Given the description of an element on the screen output the (x, y) to click on. 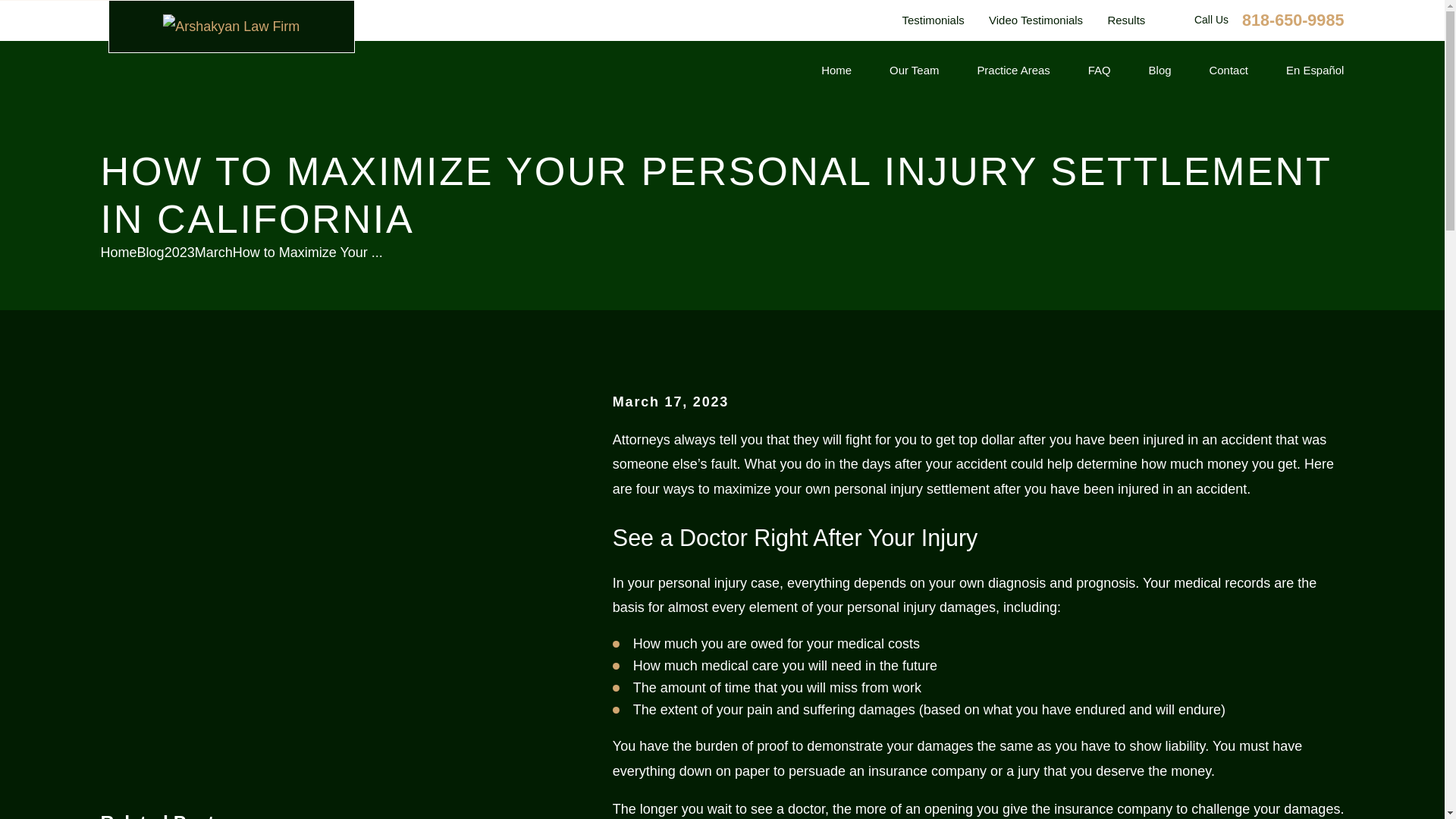
Home (836, 70)
Practice Areas (1012, 70)
Results (1125, 19)
Testimonials (932, 19)
Blog (1160, 70)
818-650-9985 (1292, 20)
Our Team (914, 70)
FAQ (1098, 70)
Home (231, 26)
Video Testimonials (1035, 19)
Go Home (118, 252)
